Given the description of an element on the screen output the (x, y) to click on. 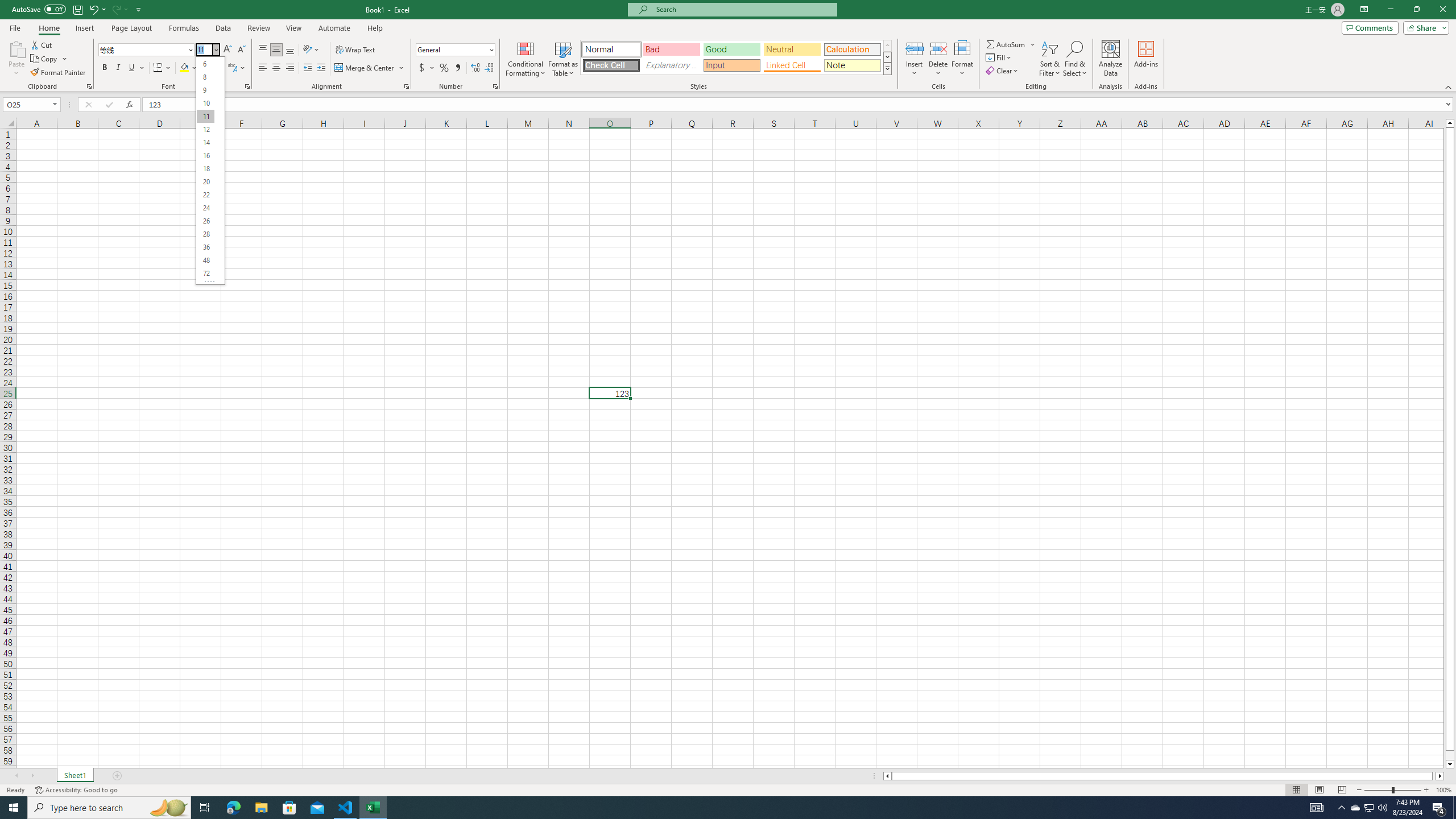
Sum (1006, 44)
14 (205, 142)
Explanatory Text (671, 65)
36 (205, 246)
Conditional Formatting (525, 58)
Font Color RGB(255, 0, 0) (206, 67)
